Given the description of an element on the screen output the (x, y) to click on. 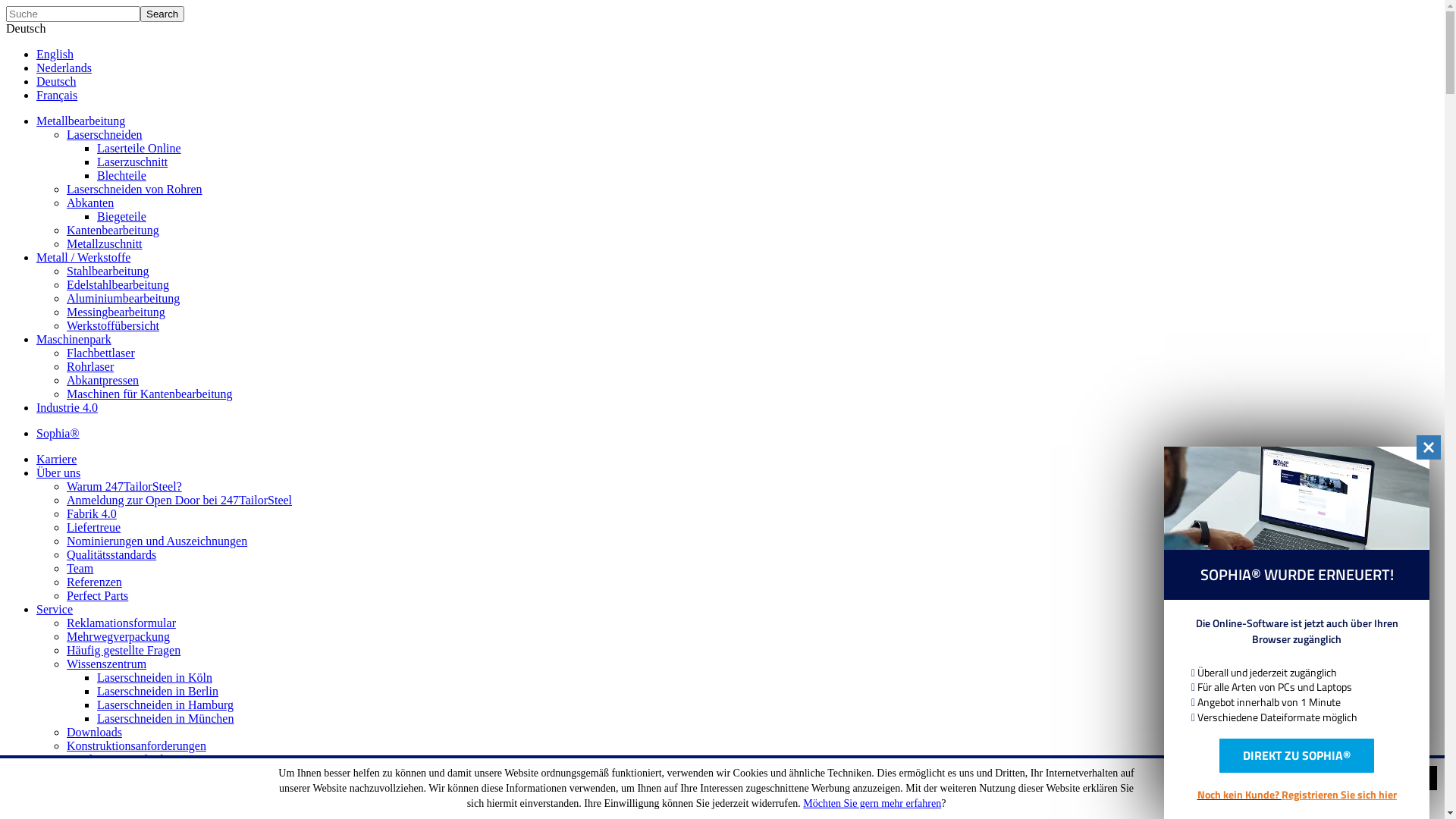
Nominierungen und Auszeichnungen Element type: text (156, 540)
Fabrik 4.0 Element type: text (91, 513)
Blechteile Element type: text (121, 175)
Stahlbearbeitung Element type: text (107, 270)
Warum 247TailorSteel? Element type: text (124, 486)
Service Element type: text (54, 608)
Perfect Parts Element type: text (97, 595)
Search input Element type: hover (73, 13)
Laserzuschnitt Element type: text (132, 161)
Anmeldung zur Open Door bei 247TailorSteel Element type: text (178, 499)
Nederlands Element type: text (63, 67)
Liefertreue Element type: text (93, 526)
English Element type: text (54, 53)
Laserschneiden in Hamburg Element type: text (165, 704)
Reklamationsformular Element type: text (120, 622)
Messen Element type: text (84, 799)
Mehrwegverpackung Element type: text (117, 636)
Abkantpressen Element type: text (102, 379)
Deutsch Element type: text (55, 81)
Laserschneiden von Rohren Element type: text (134, 188)
Flachbettlaser Element type: text (100, 352)
Noch kein Kunde? Registrieren Sie sich hier Element type: text (1296, 793)
Laserschneiden in Berlin Element type: text (157, 690)
Referenzen Element type: text (94, 581)
Rohrlaser Element type: text (89, 366)
Konstruktionsanforderungen Element type: text (136, 745)
X Element type: text (1424, 777)
News Element type: text (49, 772)
Abkanten Element type: text (89, 202)
Metallzuschnitt Element type: text (104, 243)
Bearbeitungstechniken Element type: text (122, 759)
Karriere Element type: text (56, 458)
Industrie 4.0 Element type: text (66, 407)
Wissenszentrum Element type: text (106, 663)
Metall / Werkstoffe Element type: text (83, 257)
Maschinenpark Element type: text (73, 338)
Close Element type: hover (1428, 447)
Search Element type: text (162, 13)
Metallbearbeitung Element type: text (80, 120)
Downloads Element type: text (94, 731)
Laserschneiden Element type: text (104, 134)
Kantenbearbeitung Element type: text (112, 229)
Edelstahlbearbeitung Element type: text (117, 284)
Team Element type: text (79, 567)
Laserteile Online Element type: text (139, 147)
Messingbearbeitung Element type: text (115, 311)
Biegeteile Element type: text (121, 216)
Aluminiumbearbeitung Element type: text (122, 297)
